Given the description of an element on the screen output the (x, y) to click on. 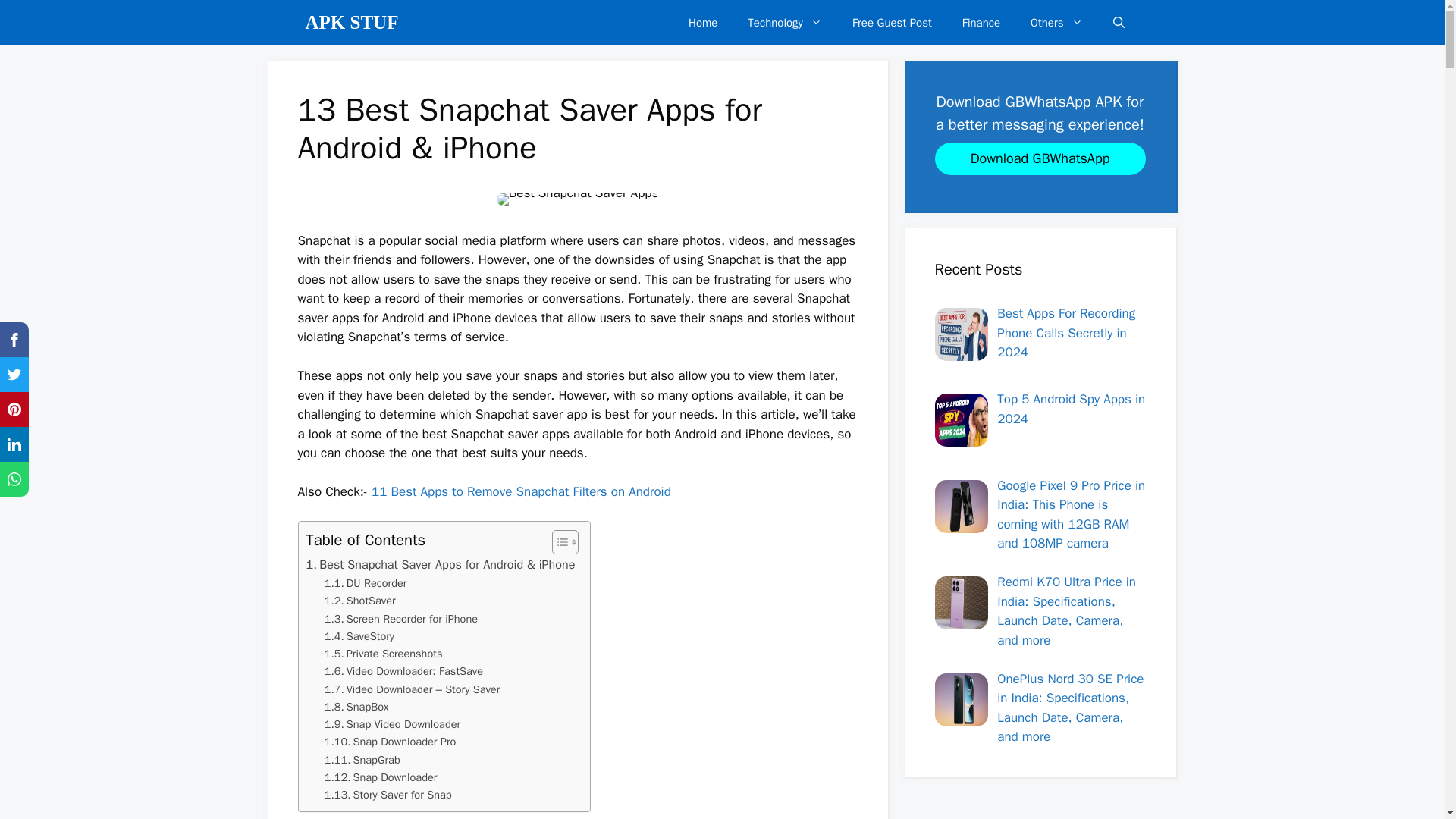
Technology (784, 22)
DU Recorder (365, 583)
Video Downloader: FastSave (403, 671)
Private Screenshots (383, 653)
ShotSaver (360, 600)
Snap Video Downloader (392, 724)
Snap Downloader (381, 777)
Finance (980, 22)
Others (1055, 22)
Snap Downloader Pro (390, 742)
